Given the description of an element on the screen output the (x, y) to click on. 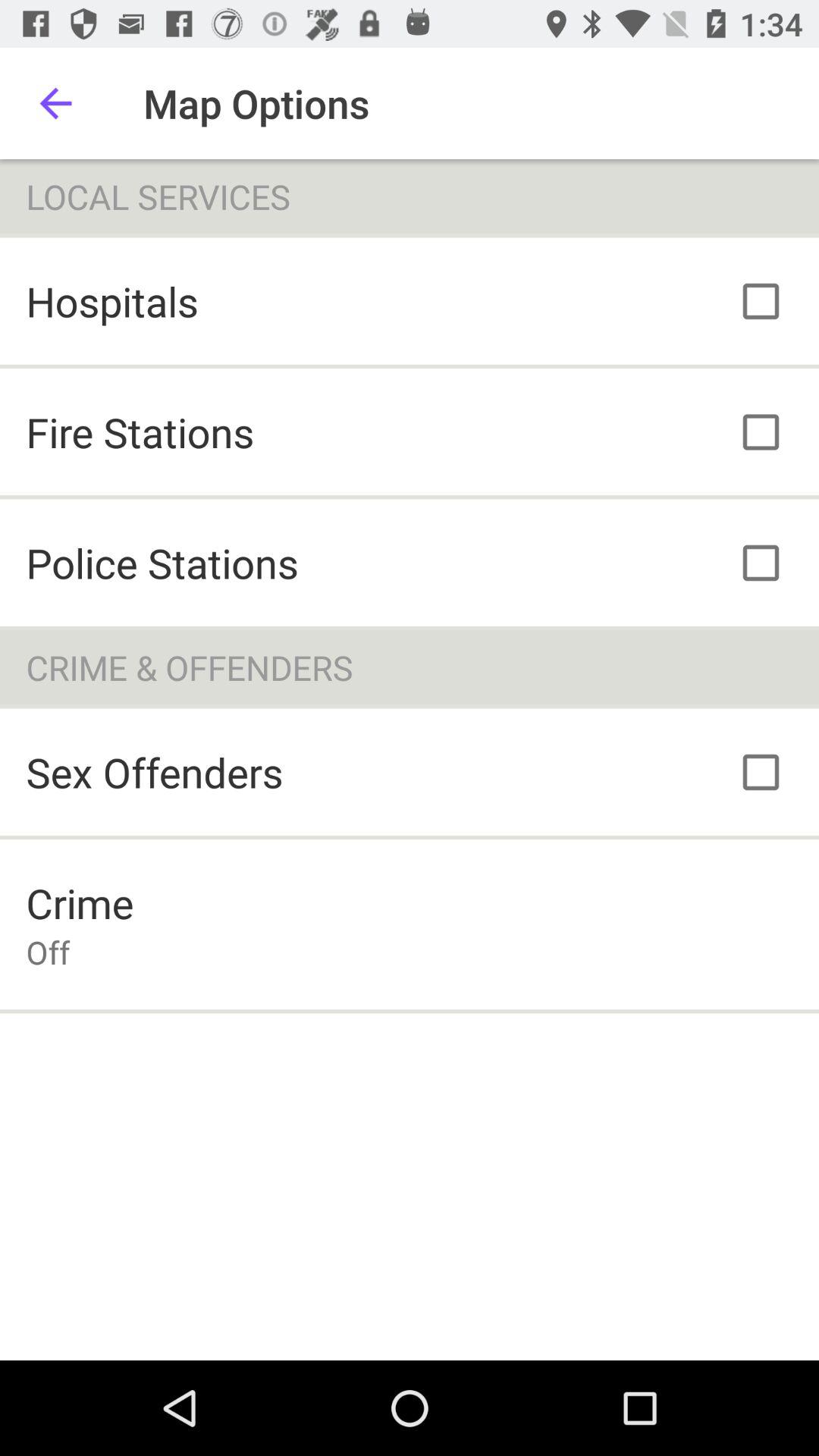
swipe until the off (47, 951)
